Given the description of an element on the screen output the (x, y) to click on. 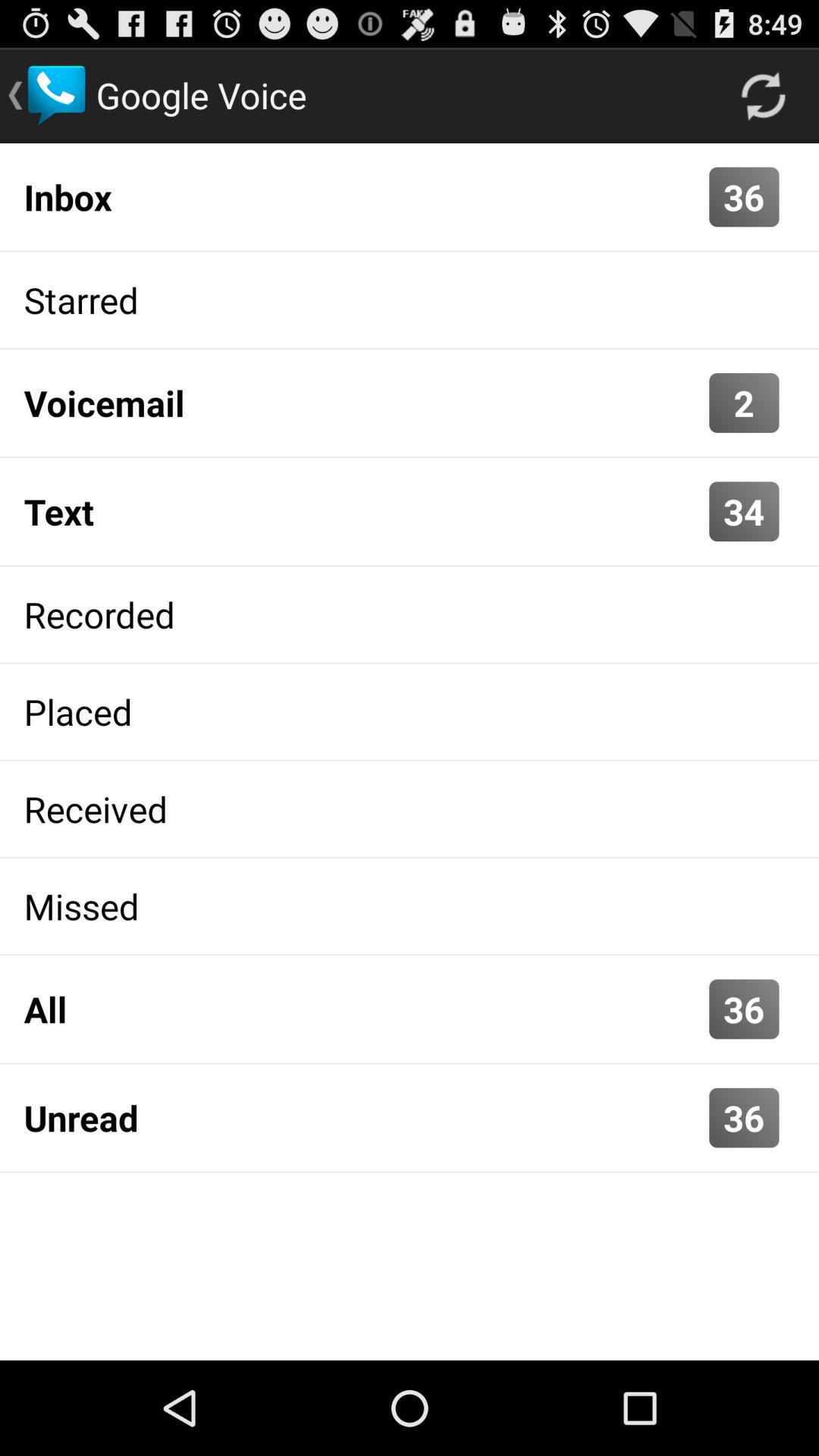
press all item (362, 1009)
